Given the description of an element on the screen output the (x, y) to click on. 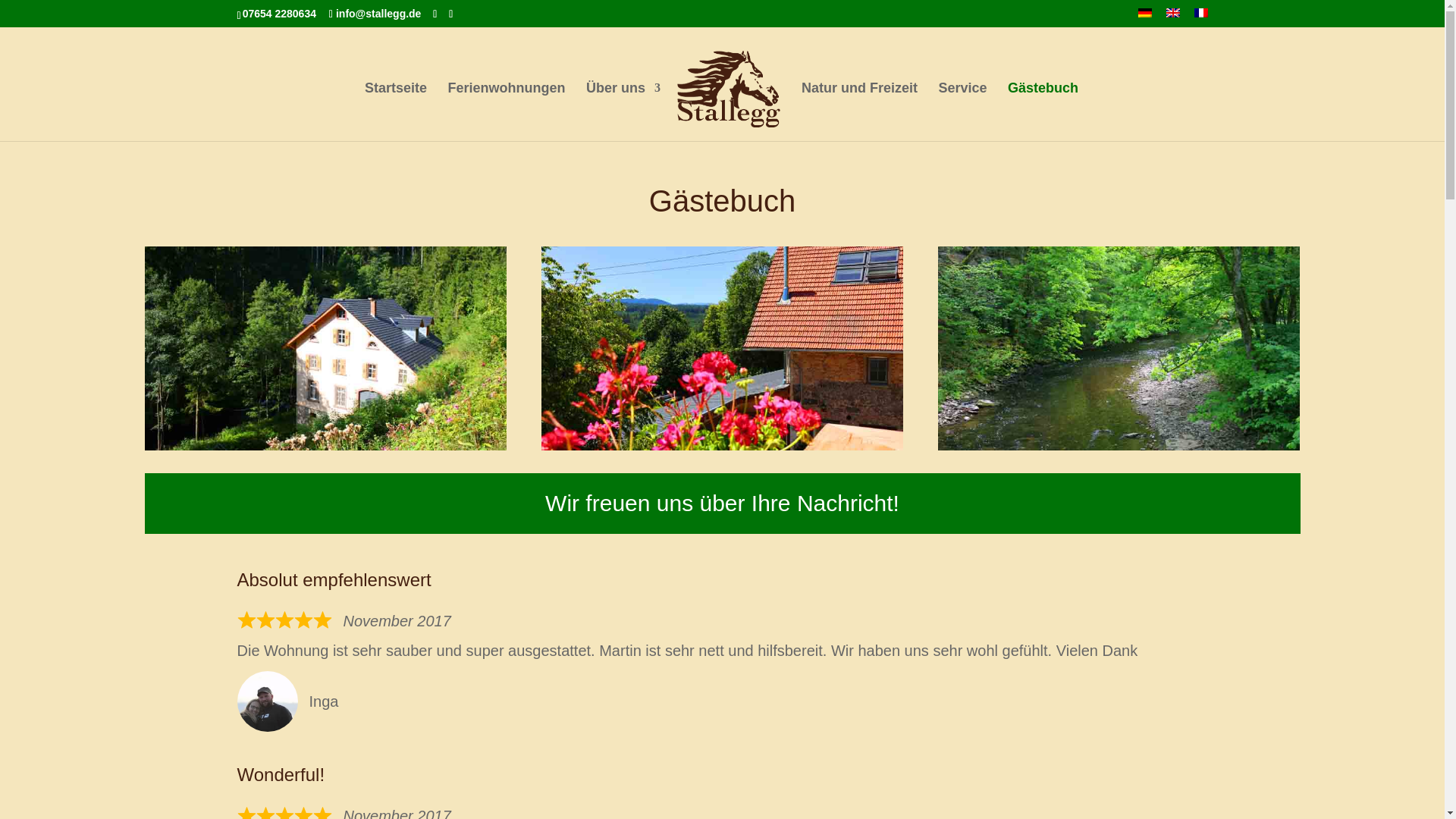
Stallegg-Lotus-Balkon2-2 (722, 348)
Stallegger Wasserkraftwerk 2 (325, 348)
Wutach-Fruehling-stallegg2 (1118, 348)
Ferienwohnungen (505, 111)
Natur und Freizeit (859, 111)
Startseite (395, 111)
